Given the description of an element on the screen output the (x, y) to click on. 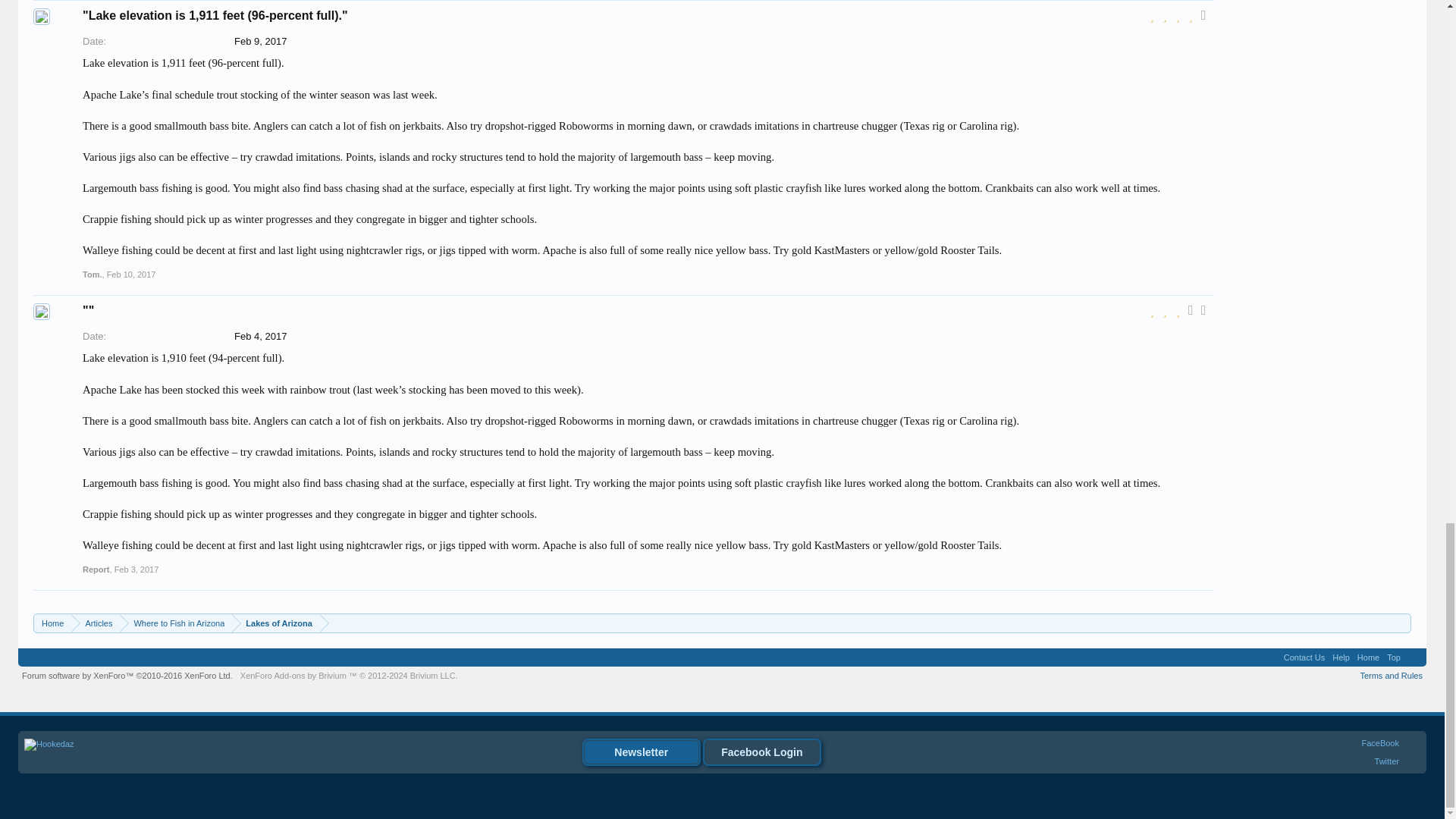
Feb 10, 2017 at 1:46 AM (130, 274)
3.00 (1182, 311)
4.00 (1182, 16)
Feb 3, 2017 at 10:49 PM (136, 569)
Open quick navigation (1401, 623)
